Given the description of an element on the screen output the (x, y) to click on. 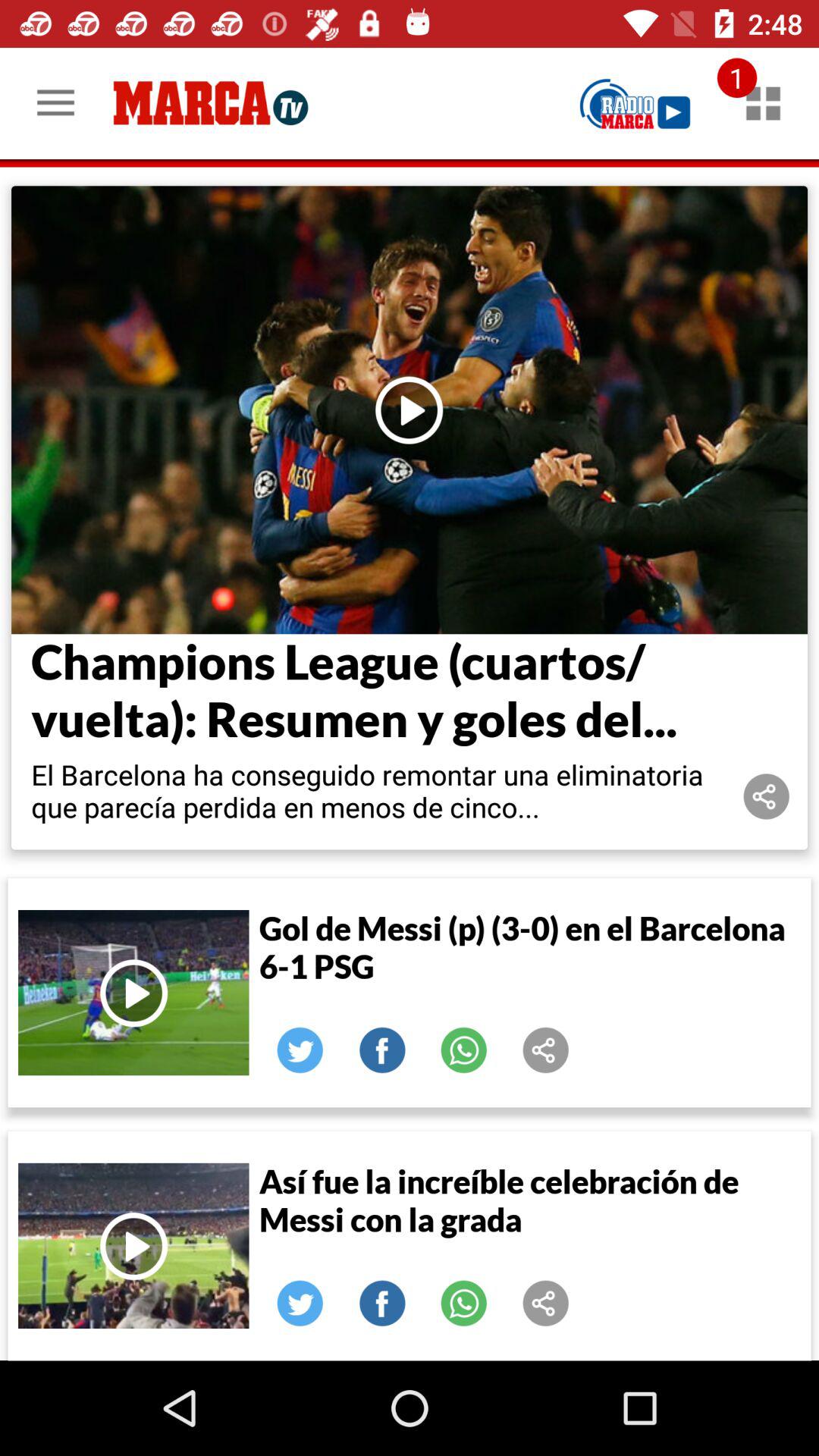
play radio marca (635, 103)
